Given the description of an element on the screen output the (x, y) to click on. 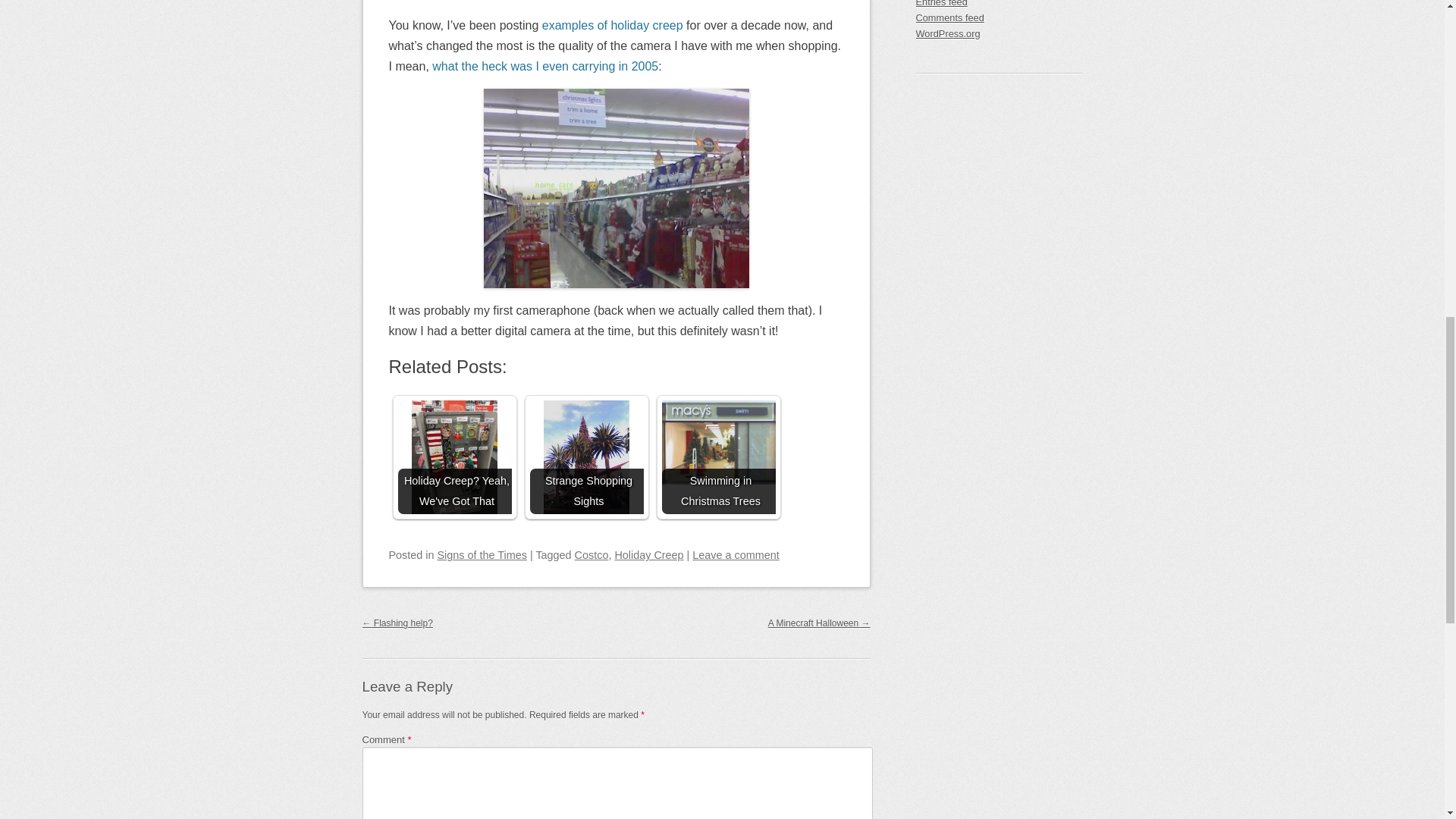
Signs of the Times (482, 554)
what the heck was I even carrying in 2005 (545, 65)
Swimming in Christmas Trees (717, 442)
Comments feed (999, 17)
Strange Shopping Sights (586, 457)
Holiday Creep (648, 554)
Holiday Creep? Yeah, We've Got That (454, 457)
Leave a comment (735, 554)
Costco (591, 554)
Swimming in Christmas Trees (717, 457)
